Given the description of an element on the screen output the (x, y) to click on. 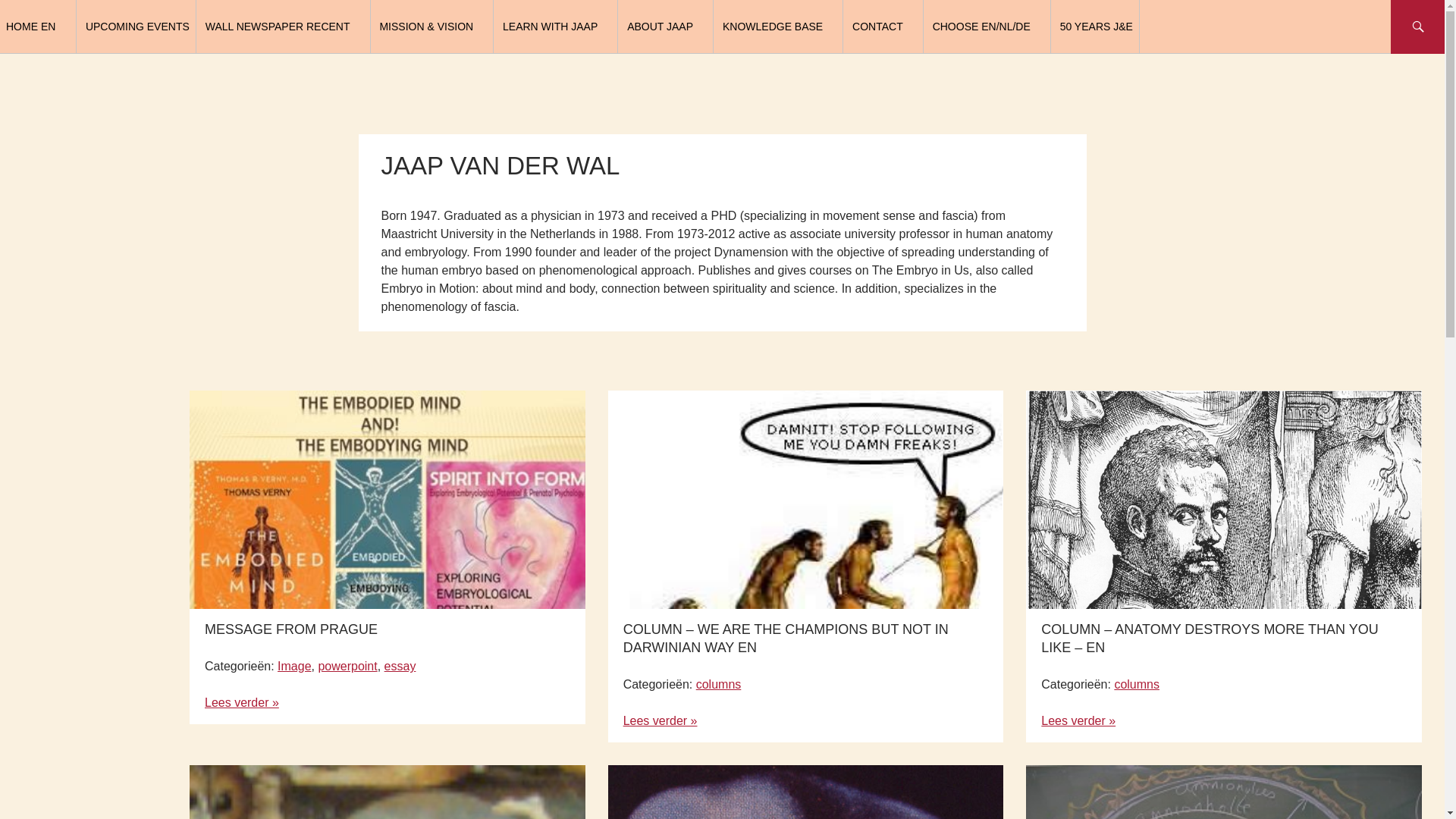
LEARN WITH JAAP (556, 26)
UPCOMING EVENTS (137, 26)
HOME EN (37, 26)
KNOWLEDGE BASE (779, 26)
ABOUT JAAP (667, 26)
WALL NEWSPAPER RECENT (284, 26)
